Given the description of an element on the screen output the (x, y) to click on. 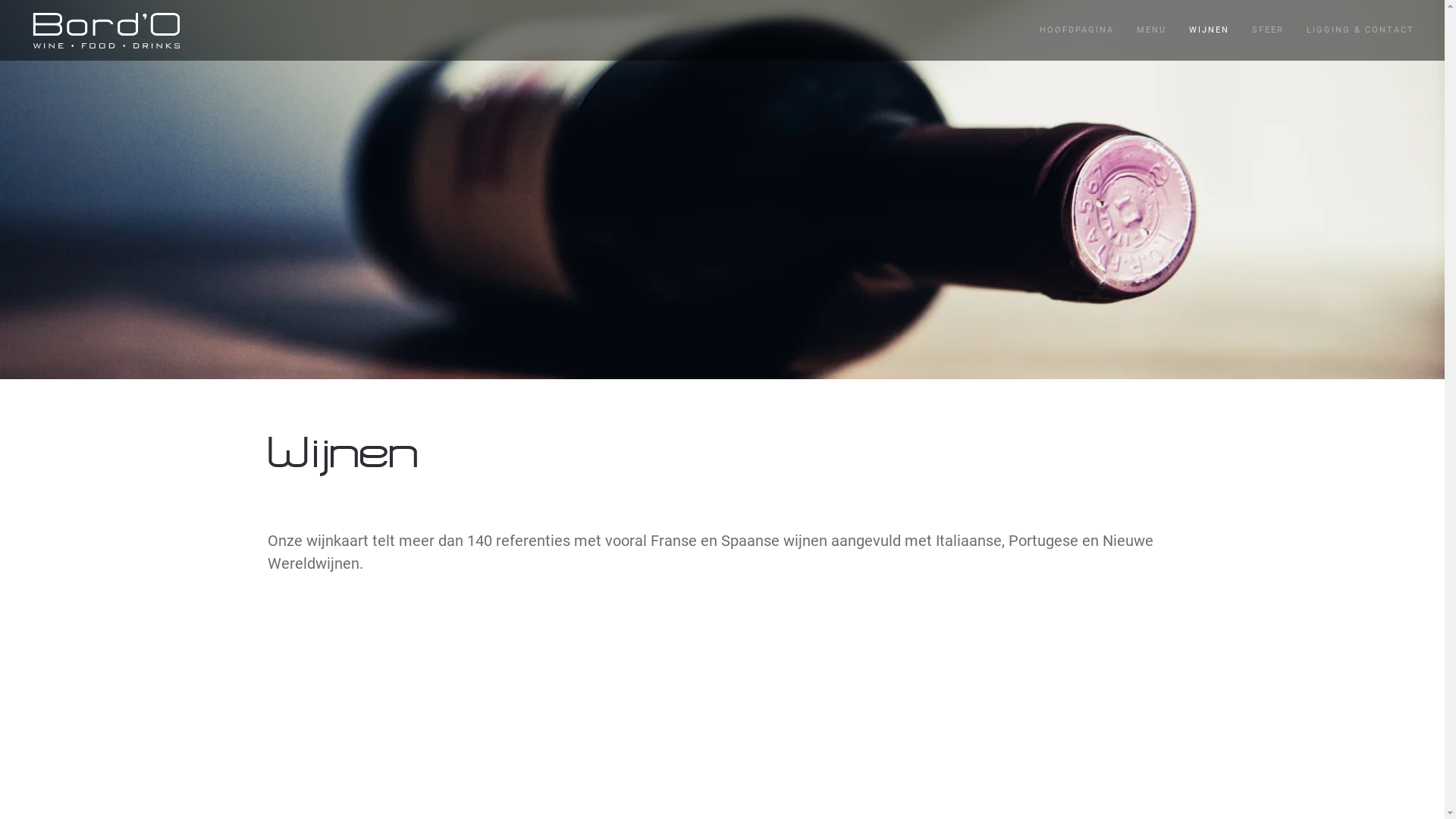
HOOFDPAGINA Element type: text (1076, 30)
MENU Element type: text (1151, 30)
SFEER Element type: text (1267, 30)
LIGGING & CONTACT Element type: text (1360, 30)
WIJNEN Element type: text (1209, 30)
